Given the description of an element on the screen output the (x, y) to click on. 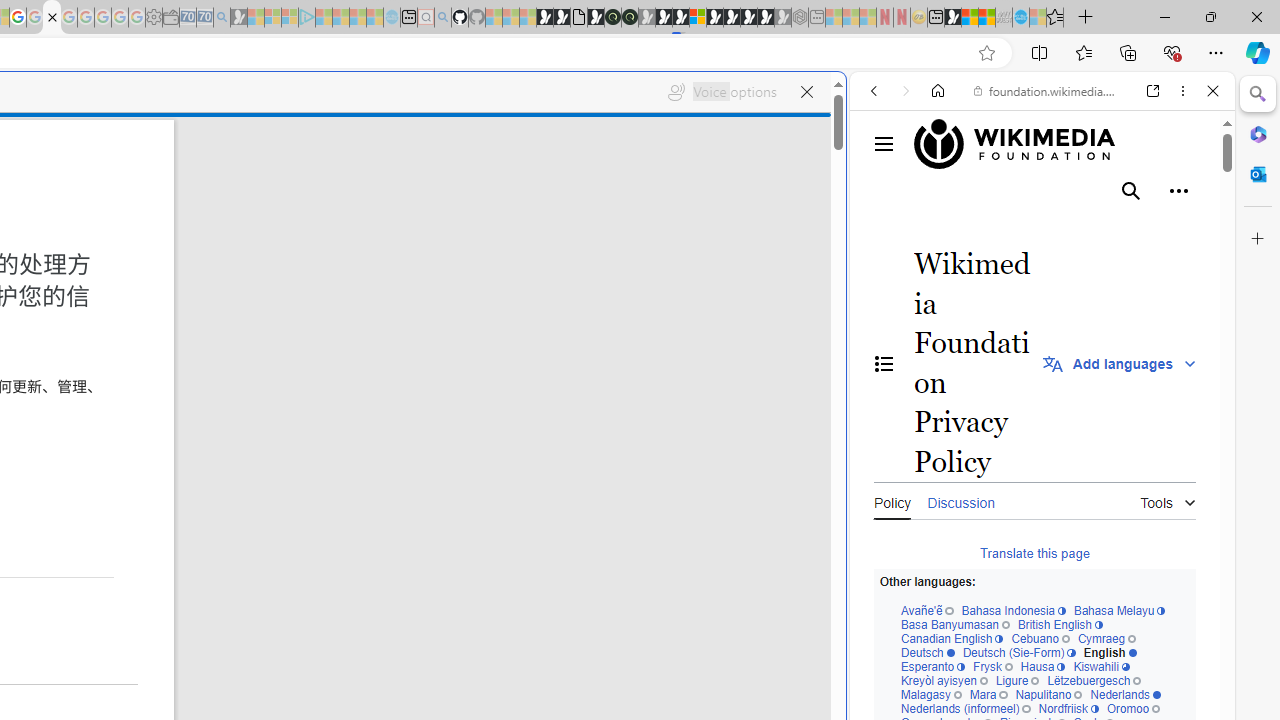
Basa Banyumasan (954, 624)
Earth has six continents not seven, radical new study claims (986, 17)
Nederlands (1126, 695)
Canadian English (951, 639)
Hausa (1043, 667)
Discussion (960, 500)
Esperanto (932, 667)
